Given the description of an element on the screen output the (x, y) to click on. 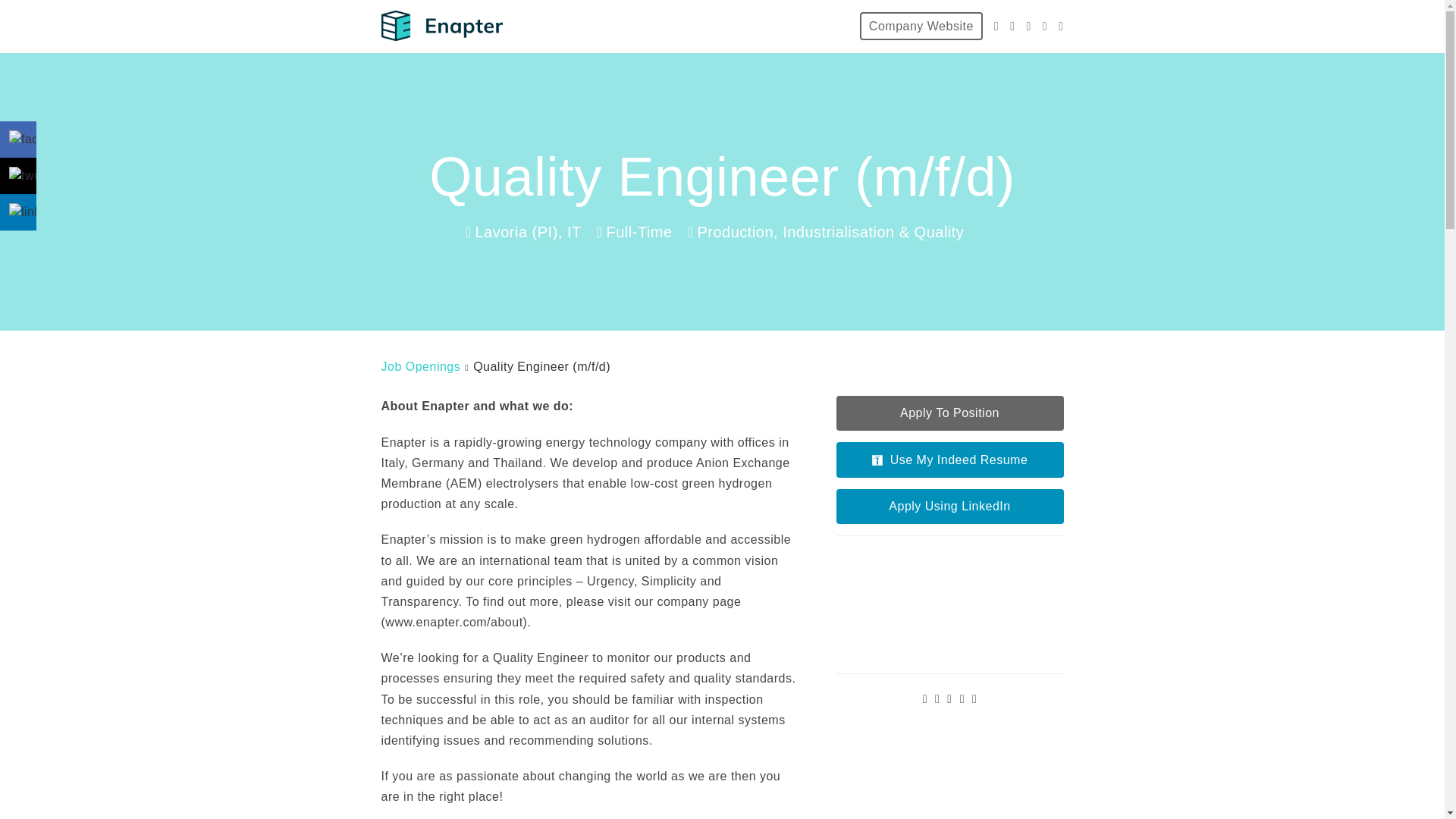
Use My Indeed Resume (948, 459)
Job Openings (420, 366)
Apply Using LinkedIn (948, 506)
Apply To Position (948, 412)
Company location image (948, 603)
Company Website (921, 26)
